Given the description of an element on the screen output the (x, y) to click on. 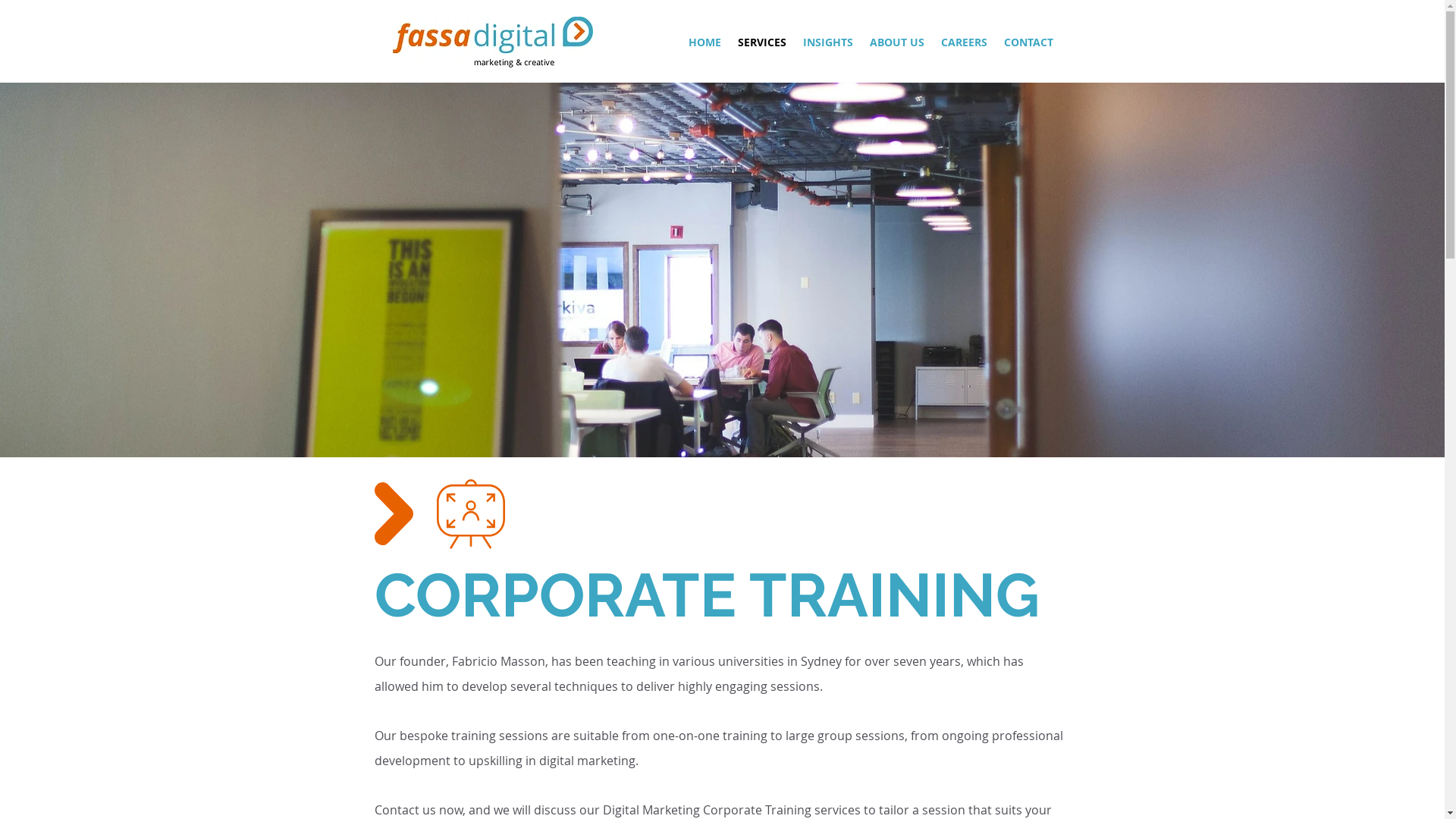
INSIGHTS Element type: text (827, 42)
SERVICES Element type: text (761, 42)
Fassa Digital Agency Logo Element type: hover (492, 42)
CAREERS Element type: text (963, 42)
CONTACT Element type: text (1027, 42)
ABOUT US Element type: text (896, 42)
HOME Element type: text (703, 42)
